Given the description of an element on the screen output the (x, y) to click on. 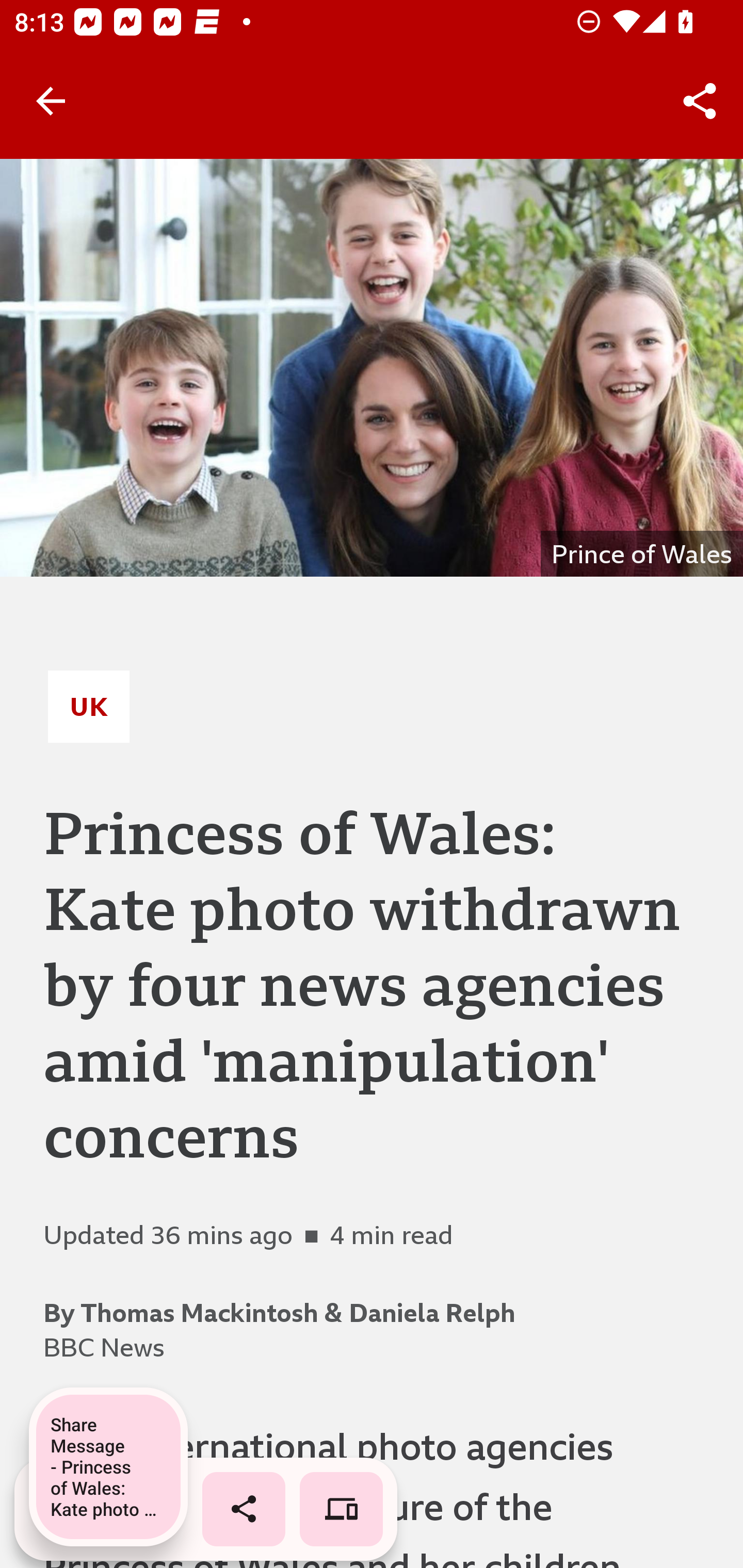
Back (50, 101)
Share (699, 101)
UK (88, 706)
